Given the description of an element on the screen output the (x, y) to click on. 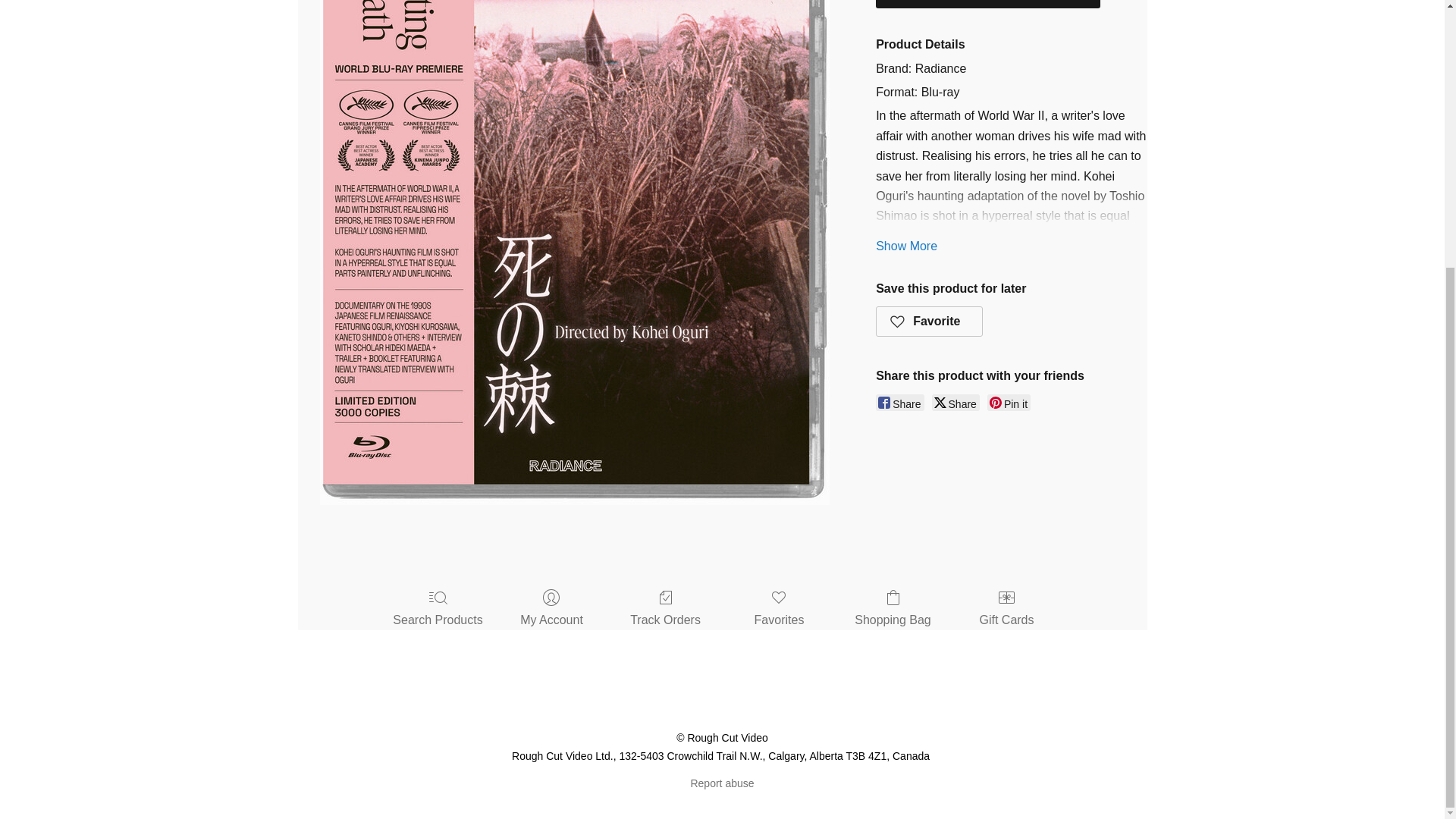
Share (899, 402)
Pin it (1008, 402)
Add to Bag (988, 4)
Show More (906, 245)
Favorite (929, 321)
Share (955, 402)
